Given the description of an element on the screen output the (x, y) to click on. 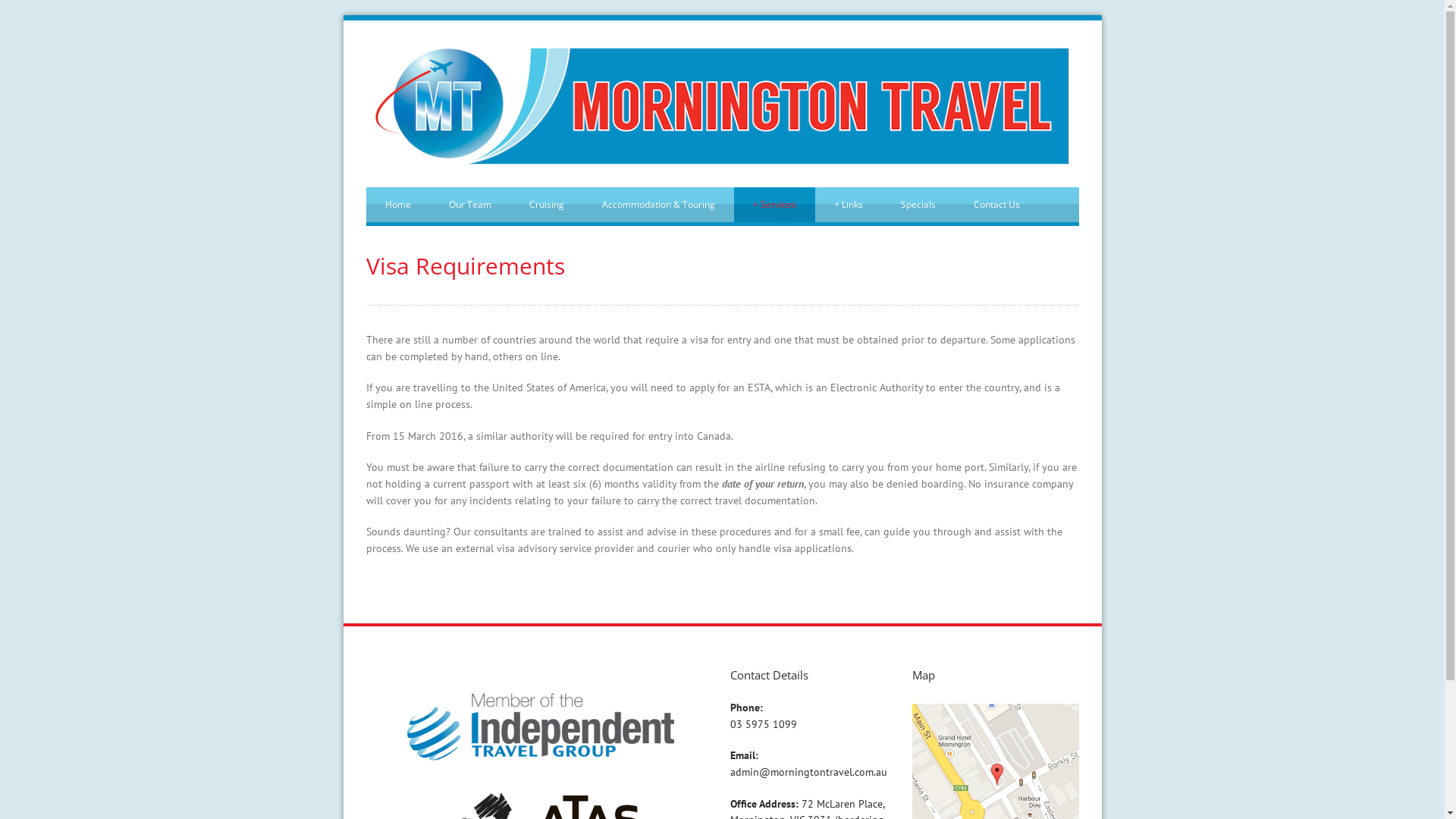
Links
+ Element type: text (847, 204)
Our Team Element type: text (469, 204)
Accommodation & Touring Element type: text (657, 204)
Cruising Element type: text (545, 204)
Specials Element type: text (917, 204)
Contact Us Element type: text (995, 204)
Services
+ Element type: text (774, 204)
Home Element type: text (397, 204)
